Given the description of an element on the screen output the (x, y) to click on. 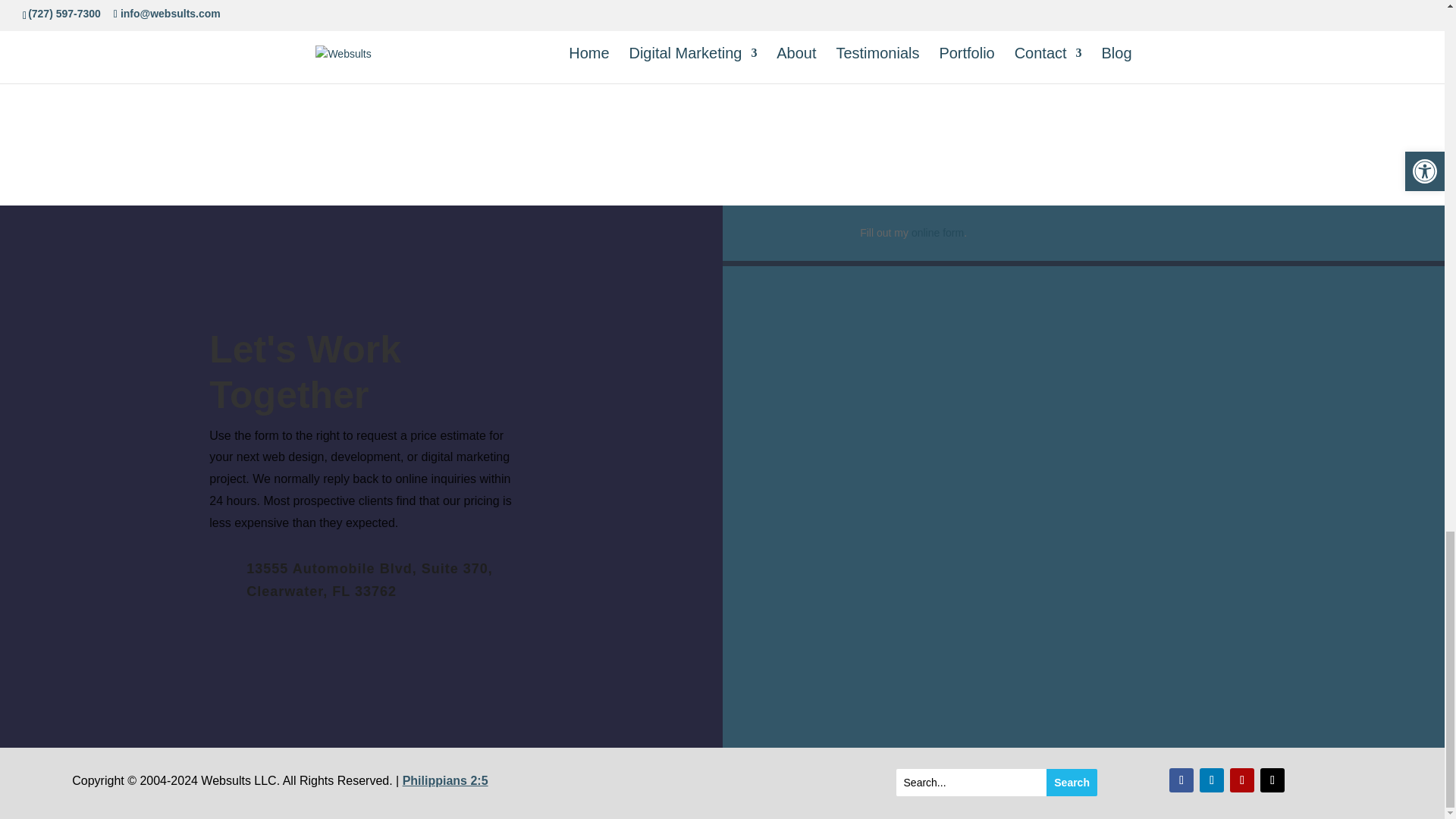
Follow on Yelp (1241, 780)
Philippians 2:5 (445, 780)
13555 Automobile Blvd, Suite 370, Clearwater, FL 33762 (369, 580)
Follow on LinkedIn (1211, 780)
online form (937, 232)
Follow on X (1272, 780)
Search (1071, 782)
aa logo (388, 68)
Search (1071, 782)
image quest (829, 58)
